Given the description of an element on the screen output the (x, y) to click on. 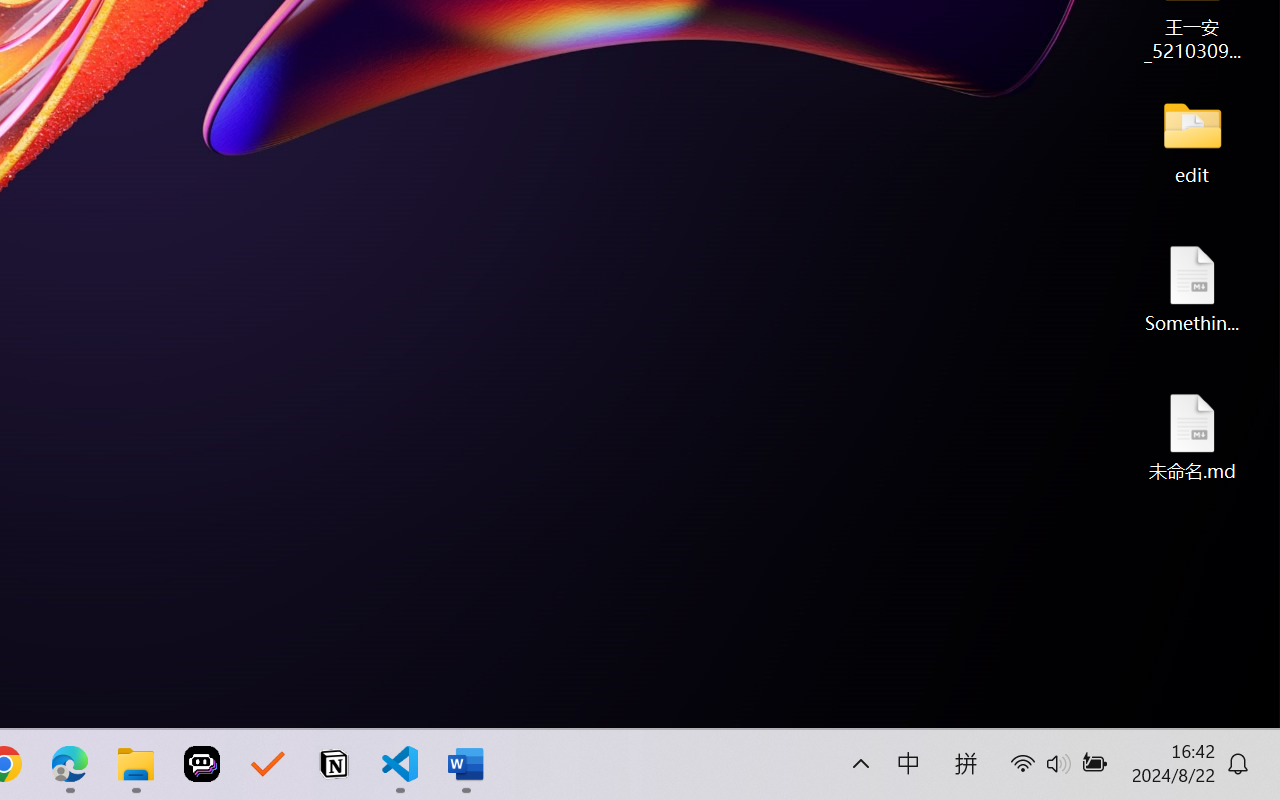
edit (1192, 140)
